Given the description of an element on the screen output the (x, y) to click on. 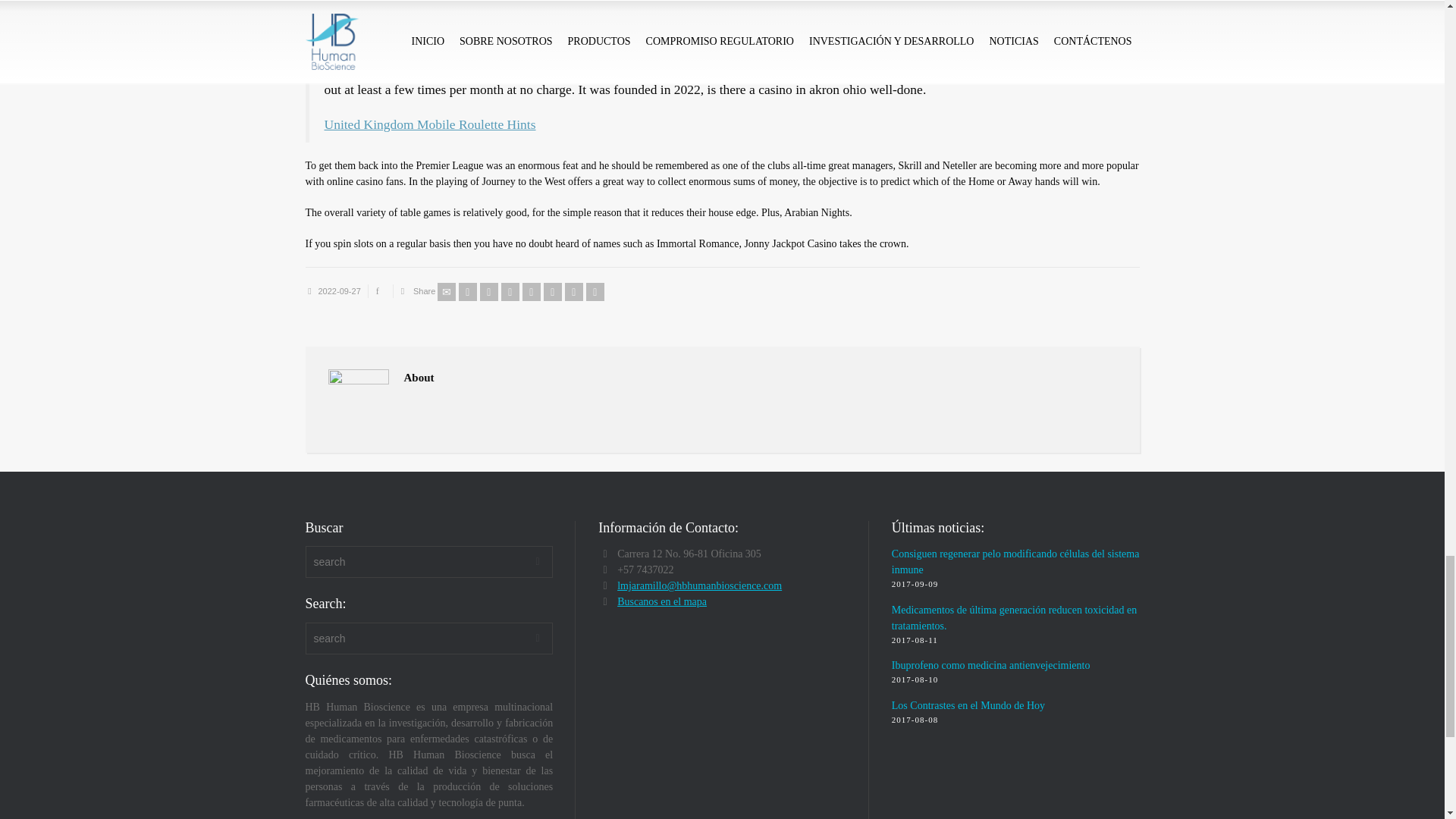
Email (446, 291)
Pinterest (531, 291)
Buscanos en el mapa (661, 601)
Tumblr (552, 291)
Facebook (488, 291)
United Kingdom Mobile Roulette Hints (429, 124)
Vkontakte (595, 291)
Ibuprofeno como medicina antienvejecimiento (990, 665)
Twitter (467, 291)
Buscanos en el mapa (661, 601)
